Given the description of an element on the screen output the (x, y) to click on. 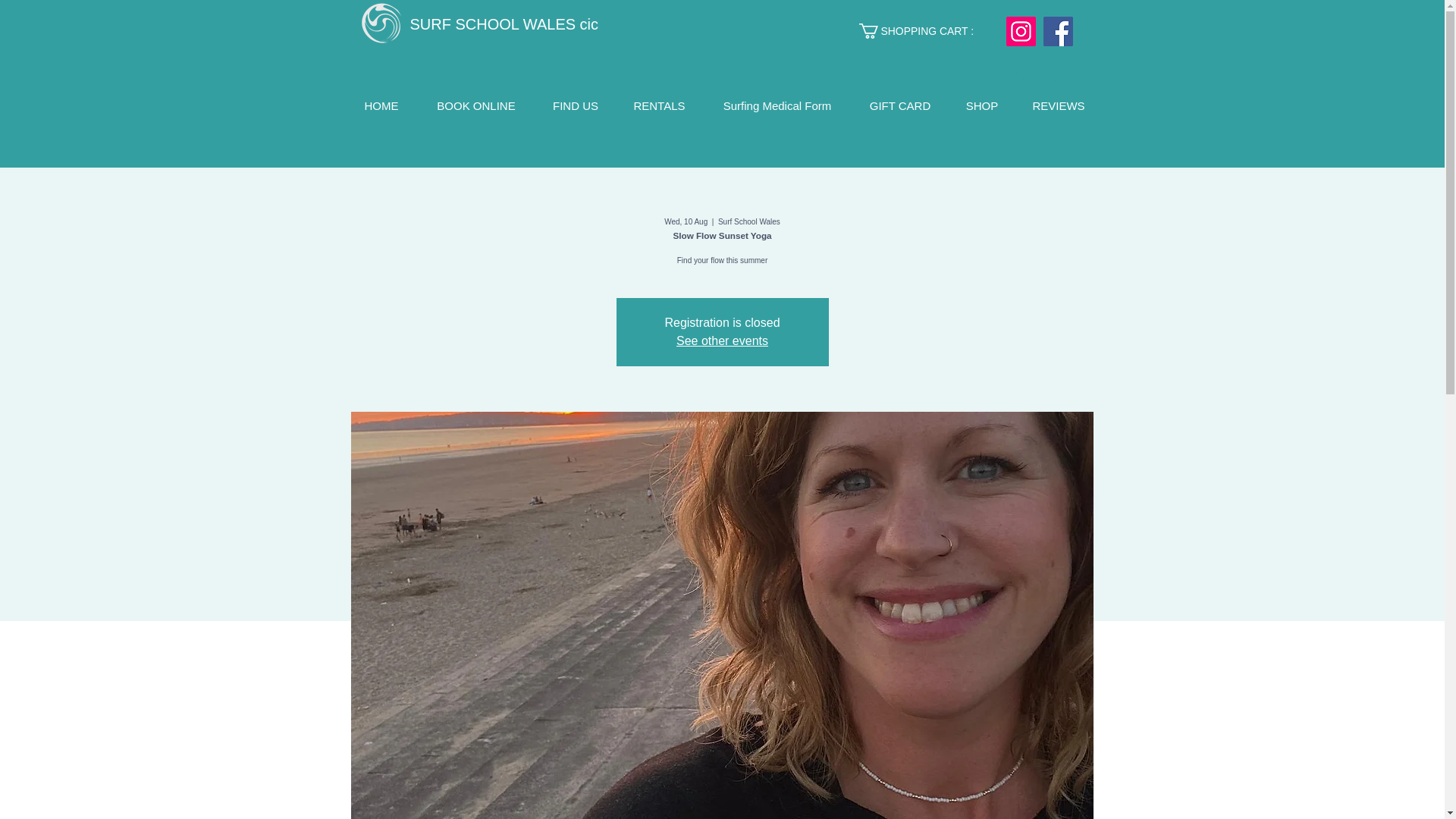
RENTALS (659, 103)
HOME (380, 103)
Log In (1046, 78)
BOOK ONLINE (476, 103)
FIND US (574, 103)
REVIEWS (1058, 103)
See other events (722, 340)
SURF SCHOOL WALES cic (503, 23)
SHOPPING CART : (926, 30)
GIFT CARD (899, 103)
